Given the description of an element on the screen output the (x, y) to click on. 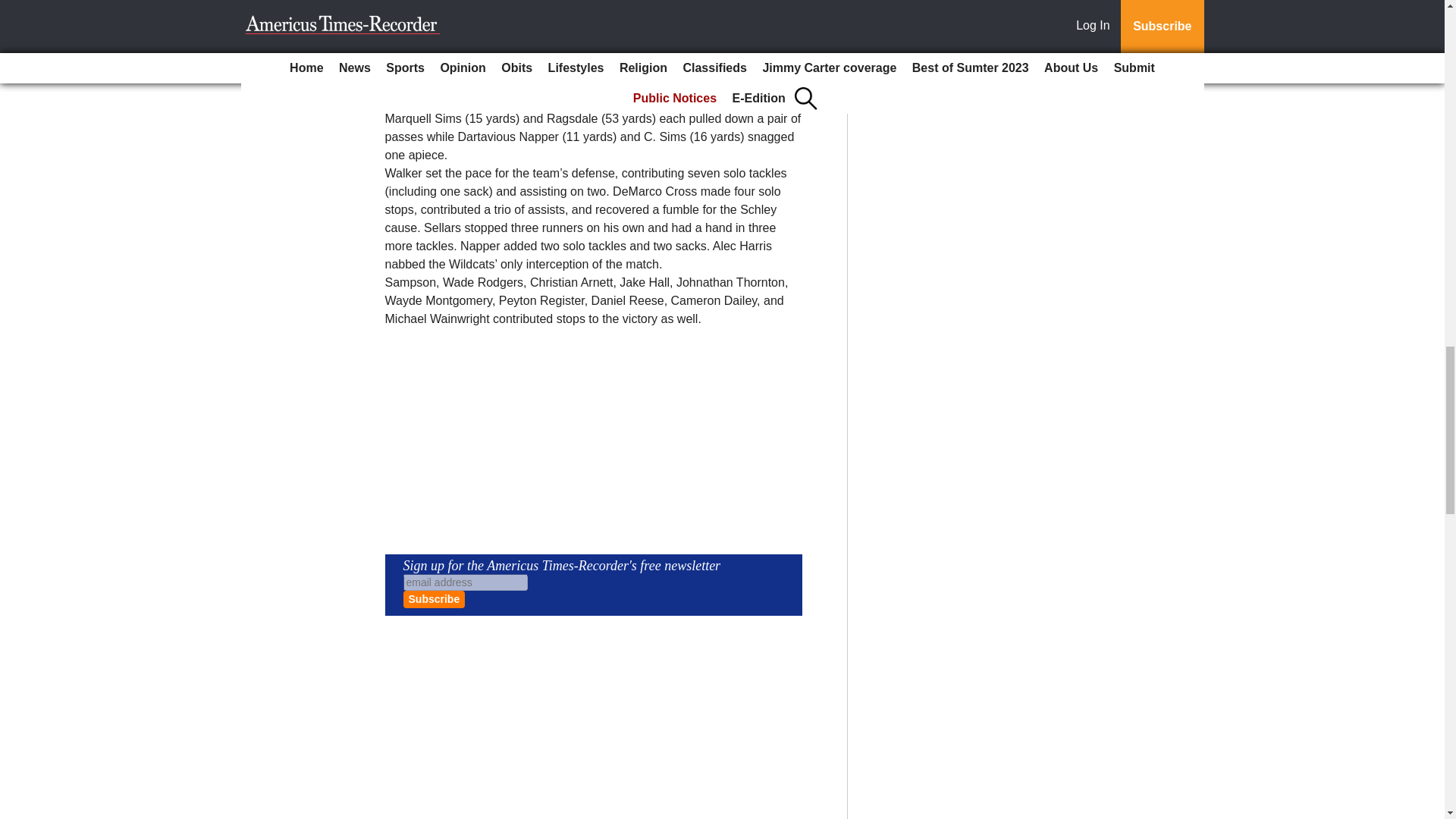
Subscribe (434, 599)
Subscribe (434, 599)
